Given the description of an element on the screen output the (x, y) to click on. 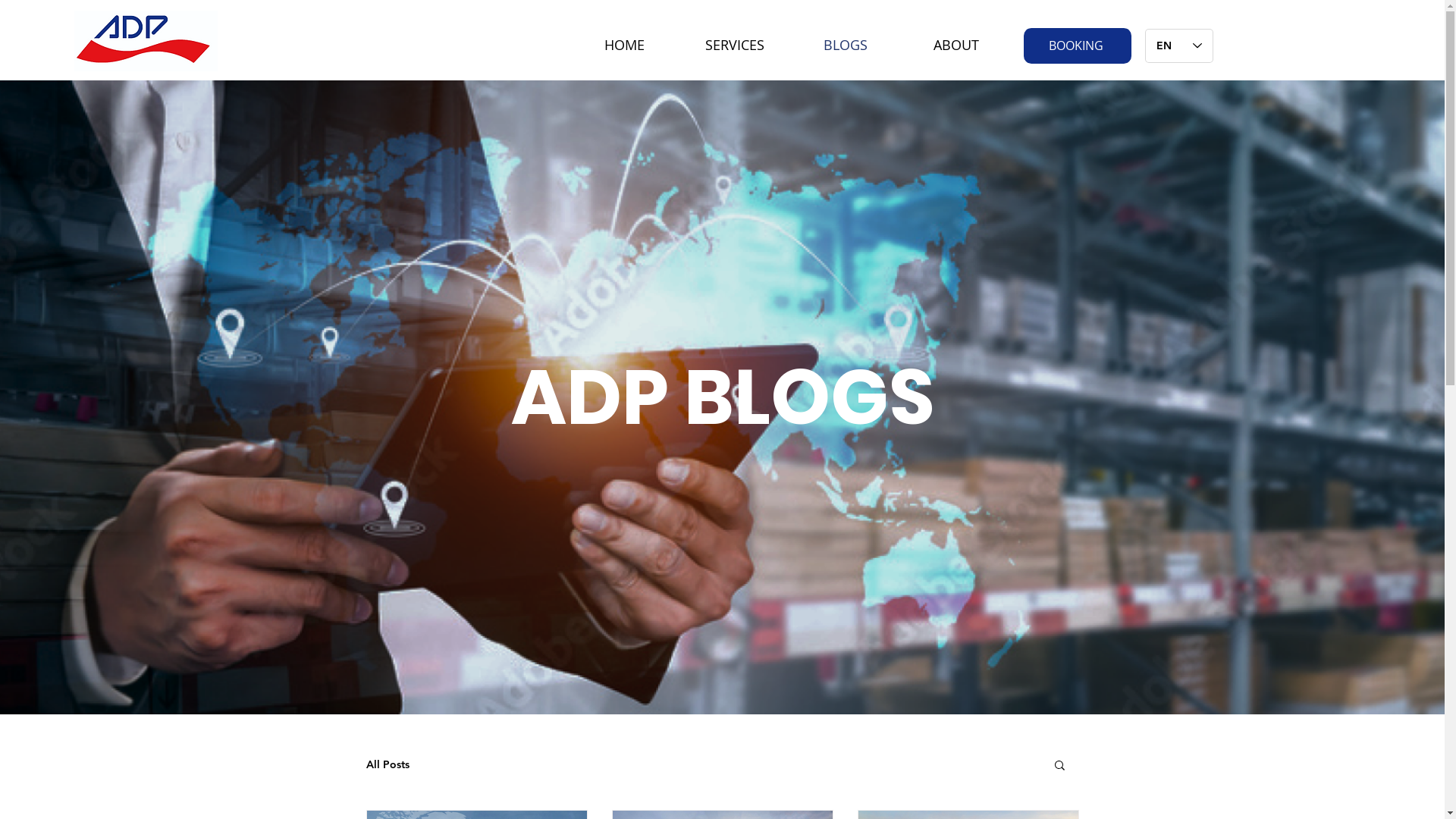
BLOGS Element type: text (845, 37)
All Posts Element type: text (386, 764)
BOOKING Element type: text (1077, 45)
ABOUT Element type: text (955, 37)
SERVICES Element type: text (734, 37)
HOME Element type: text (623, 37)
